Given the description of an element on the screen output the (x, y) to click on. 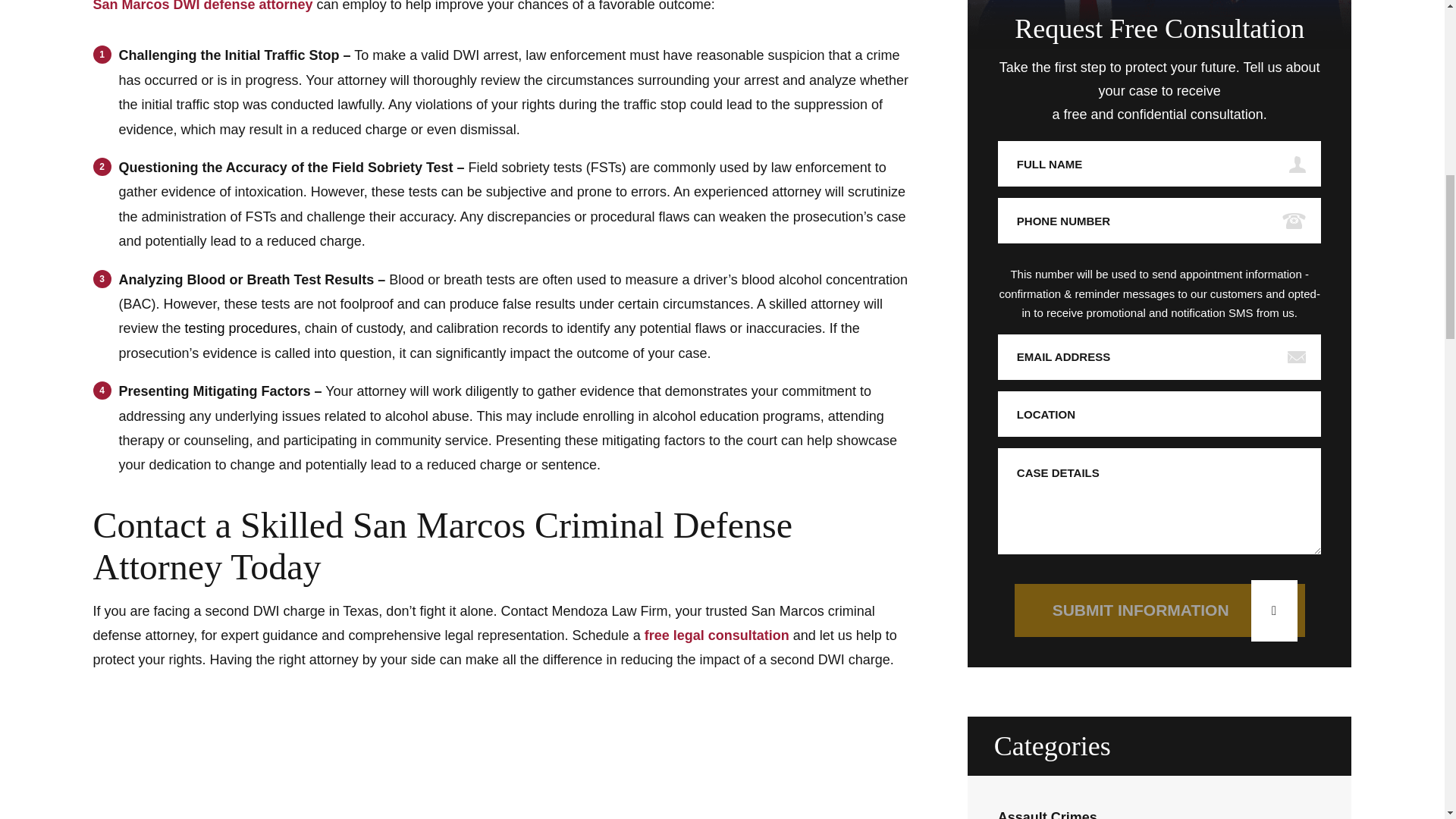
Submit information (1159, 610)
Submit information (1159, 610)
Categories (1160, 745)
free legal consultation (717, 635)
Assault Crimes (1047, 814)
testing procedures (240, 328)
San Marcos DWI defense attorney (203, 6)
